Given the description of an element on the screen output the (x, y) to click on. 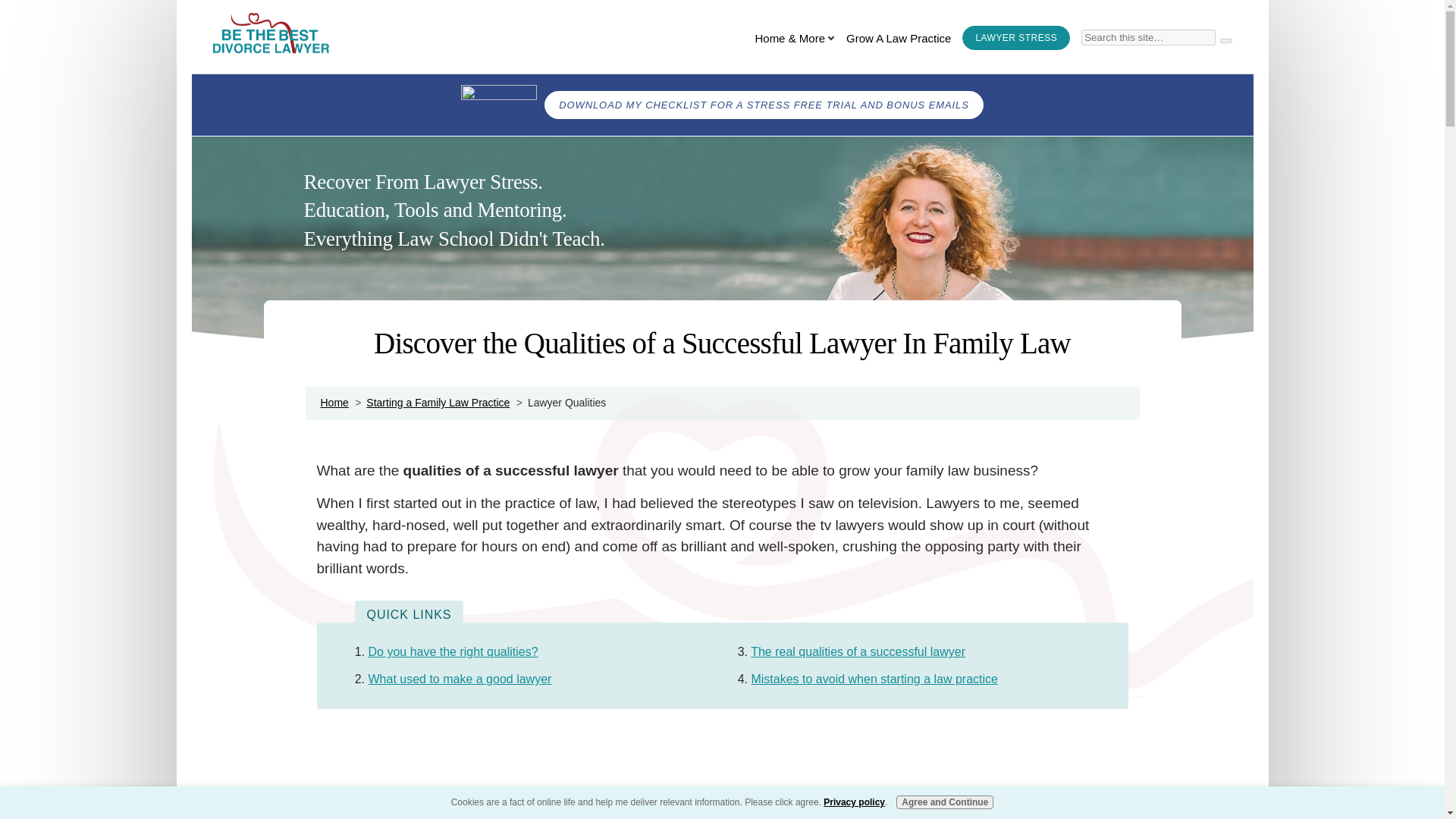
Privacy policy (854, 801)
What used to make a good lawyer (459, 678)
The real qualities of a successful lawyer (858, 651)
Grow A Law Practice (898, 38)
Mistakes to avoid when starting a law practice (874, 678)
Agree and Continue (944, 802)
Do you have the right qualities? (452, 651)
Starting a Family Law Practice (437, 402)
LAWYER STRESS (1016, 37)
